Given the description of an element on the screen output the (x, y) to click on. 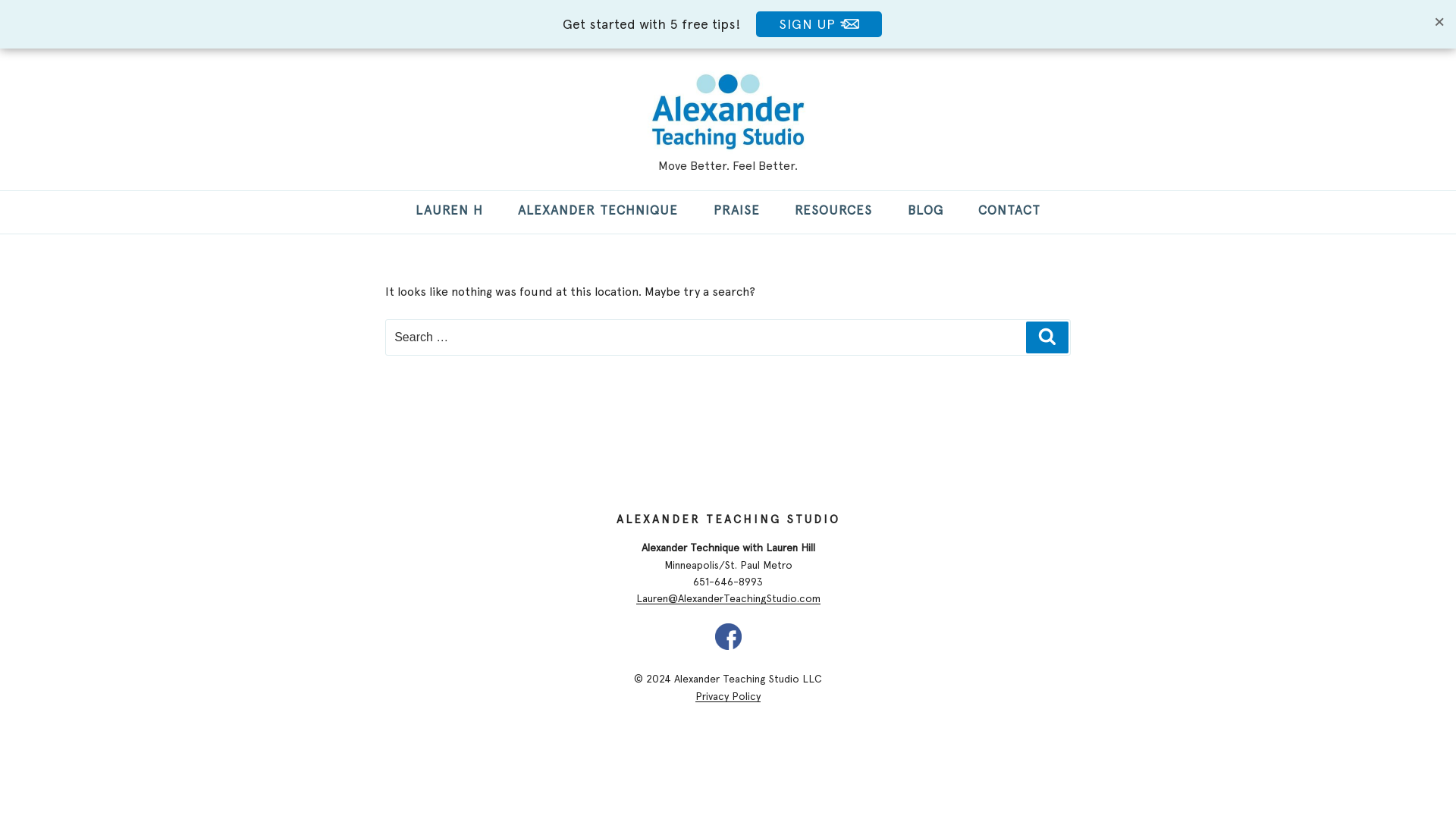
CONTACT (1009, 212)
ALEXANDER TECHNIQUE (598, 212)
LAUREN H (448, 212)
PRAISE (736, 212)
Privacy Policy (727, 695)
BLOG (925, 212)
Email Lauren (726, 598)
Search (1047, 336)
SIGN UP (818, 23)
RESOURCES (833, 212)
